Given the description of an element on the screen output the (x, y) to click on. 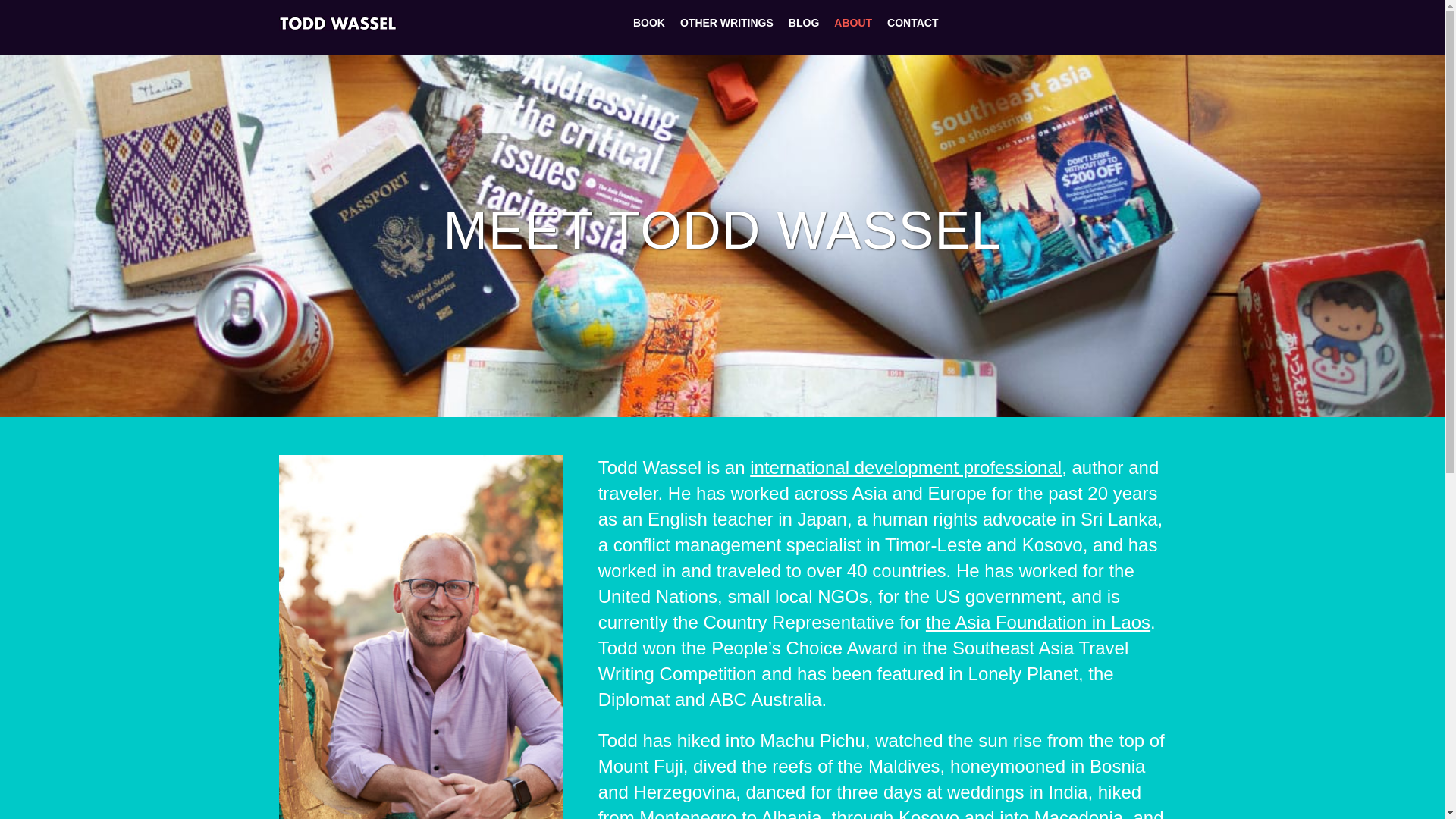
the Asia Foundation in Laos (1038, 621)
OTHER WRITINGS (726, 22)
international development professional (905, 467)
CONTACT (911, 22)
